Given the description of an element on the screen output the (x, y) to click on. 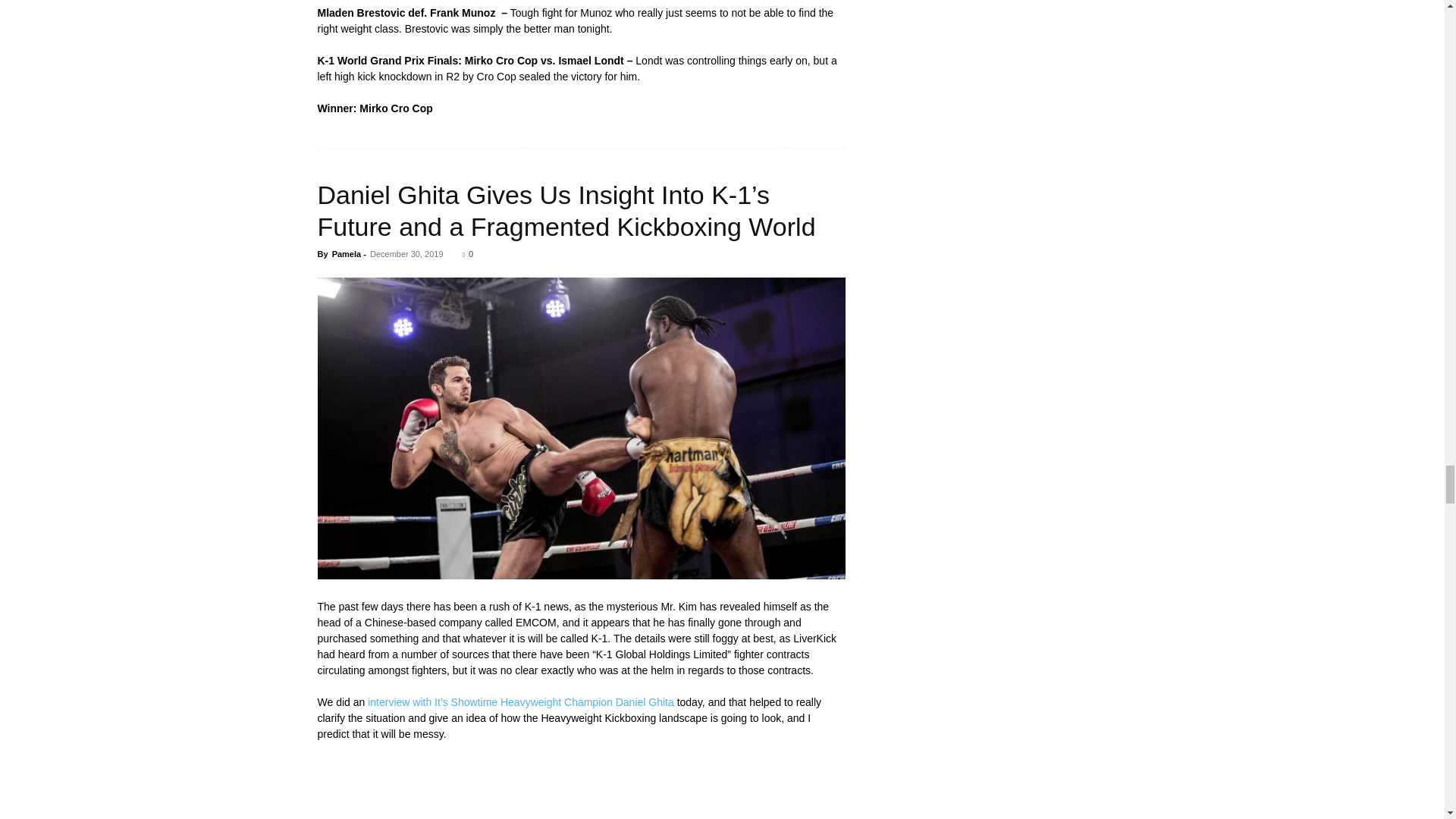
Daniel Ghita vs. Anderson Silva HD (580, 788)
